Given the description of an element on the screen output the (x, y) to click on. 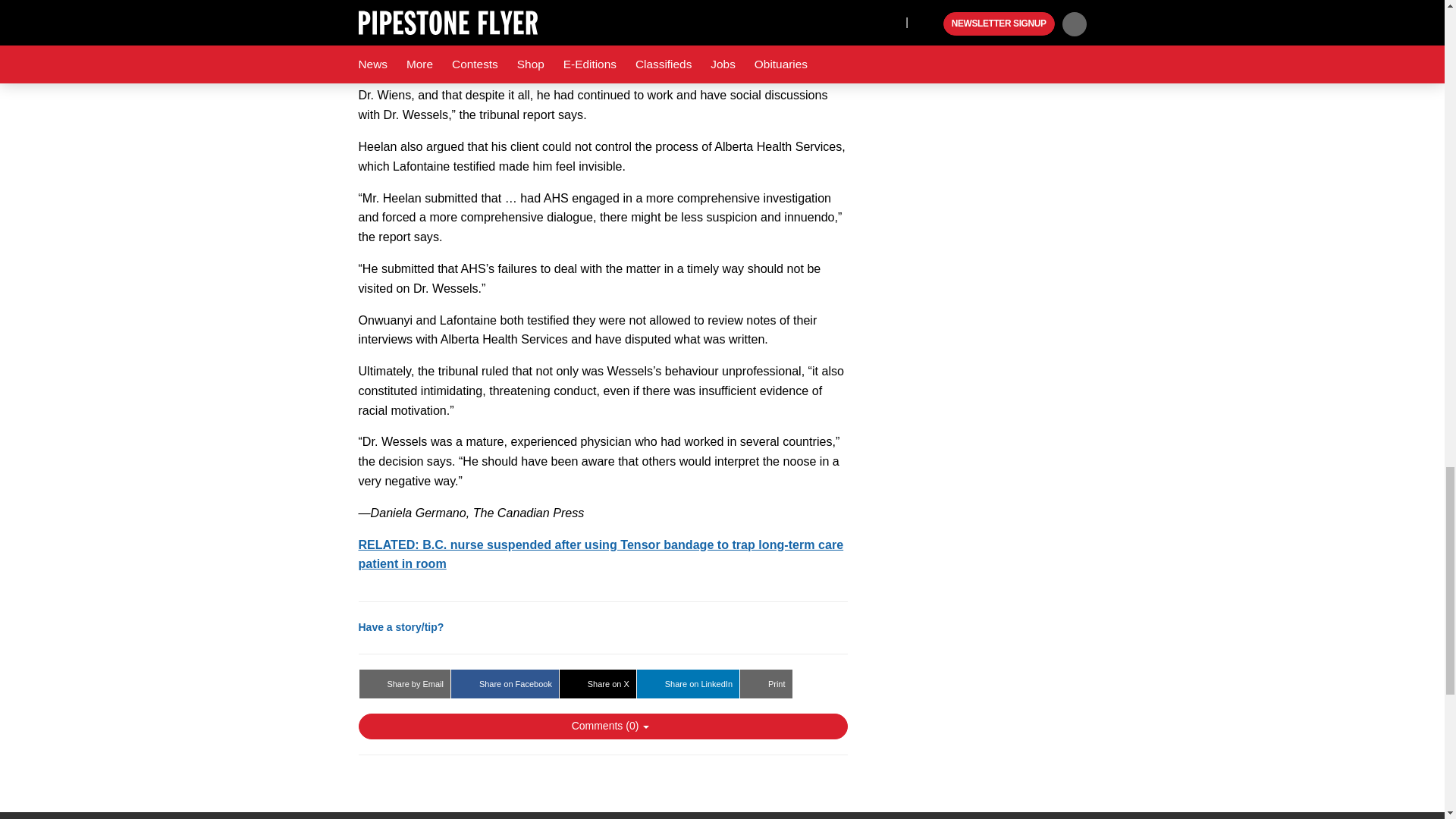
related story (600, 553)
Show Comments (602, 726)
